Given the description of an element on the screen output the (x, y) to click on. 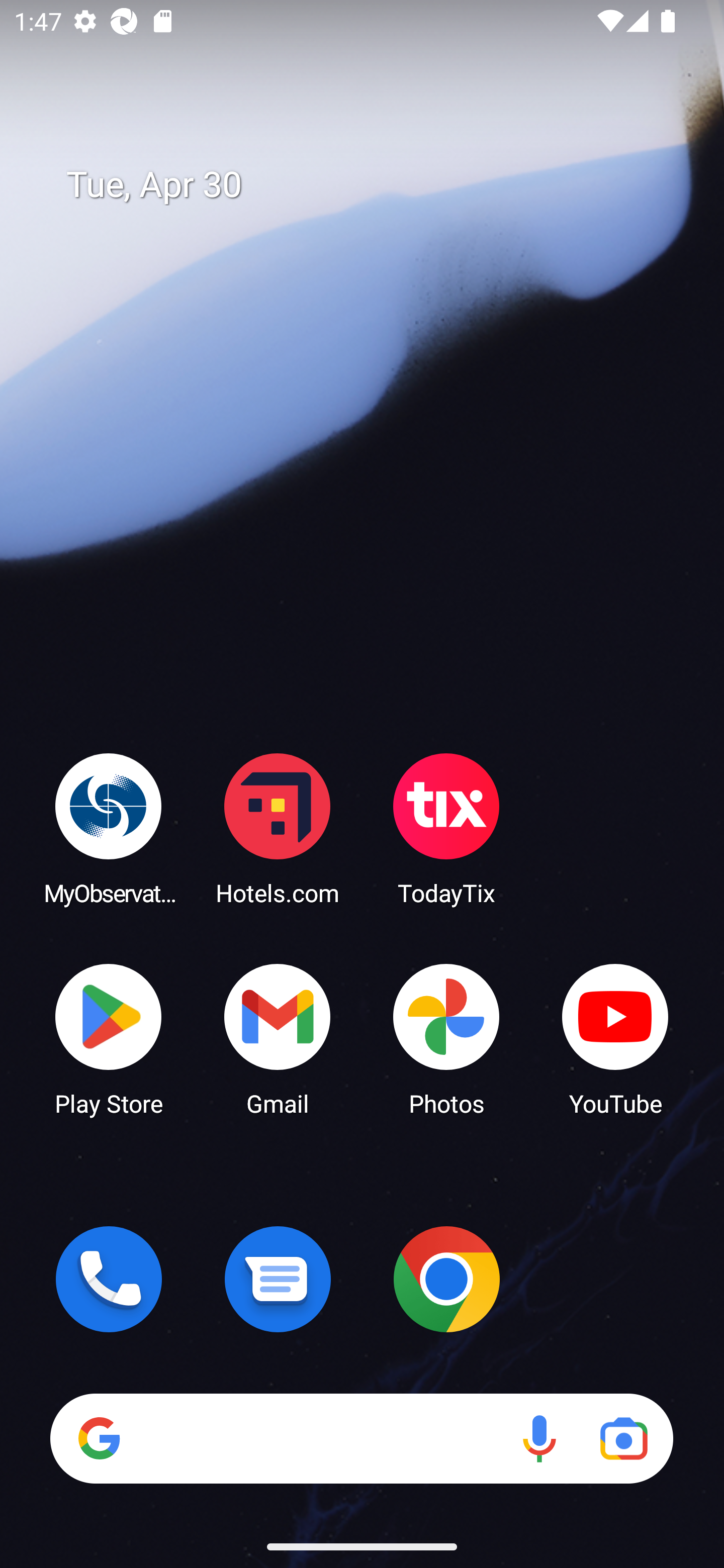
Tue, Apr 30 (375, 184)
MyObservatory (108, 828)
Hotels.com (277, 828)
TodayTix (445, 828)
Play Store (108, 1038)
Gmail (277, 1038)
Photos (445, 1038)
YouTube (615, 1038)
Phone (108, 1279)
Messages (277, 1279)
Chrome (446, 1279)
Voice search (539, 1438)
Google Lens (623, 1438)
